Given the description of an element on the screen output the (x, y) to click on. 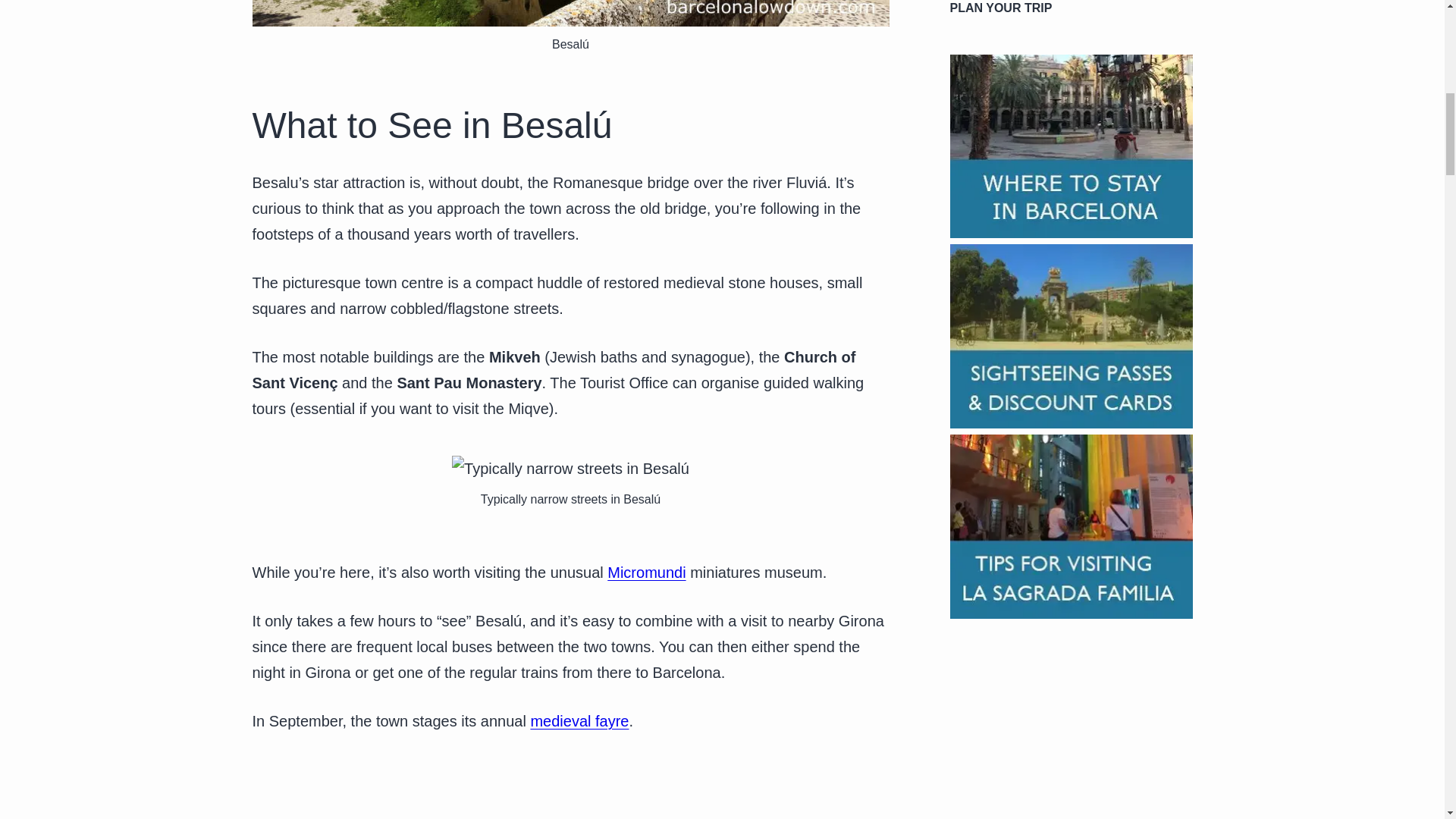
Micromundi (646, 572)
medieval fayre (578, 720)
Micromundi museum Besalu (646, 572)
Medieval Fayre Besalu (578, 720)
